Given the description of an element on the screen output the (x, y) to click on. 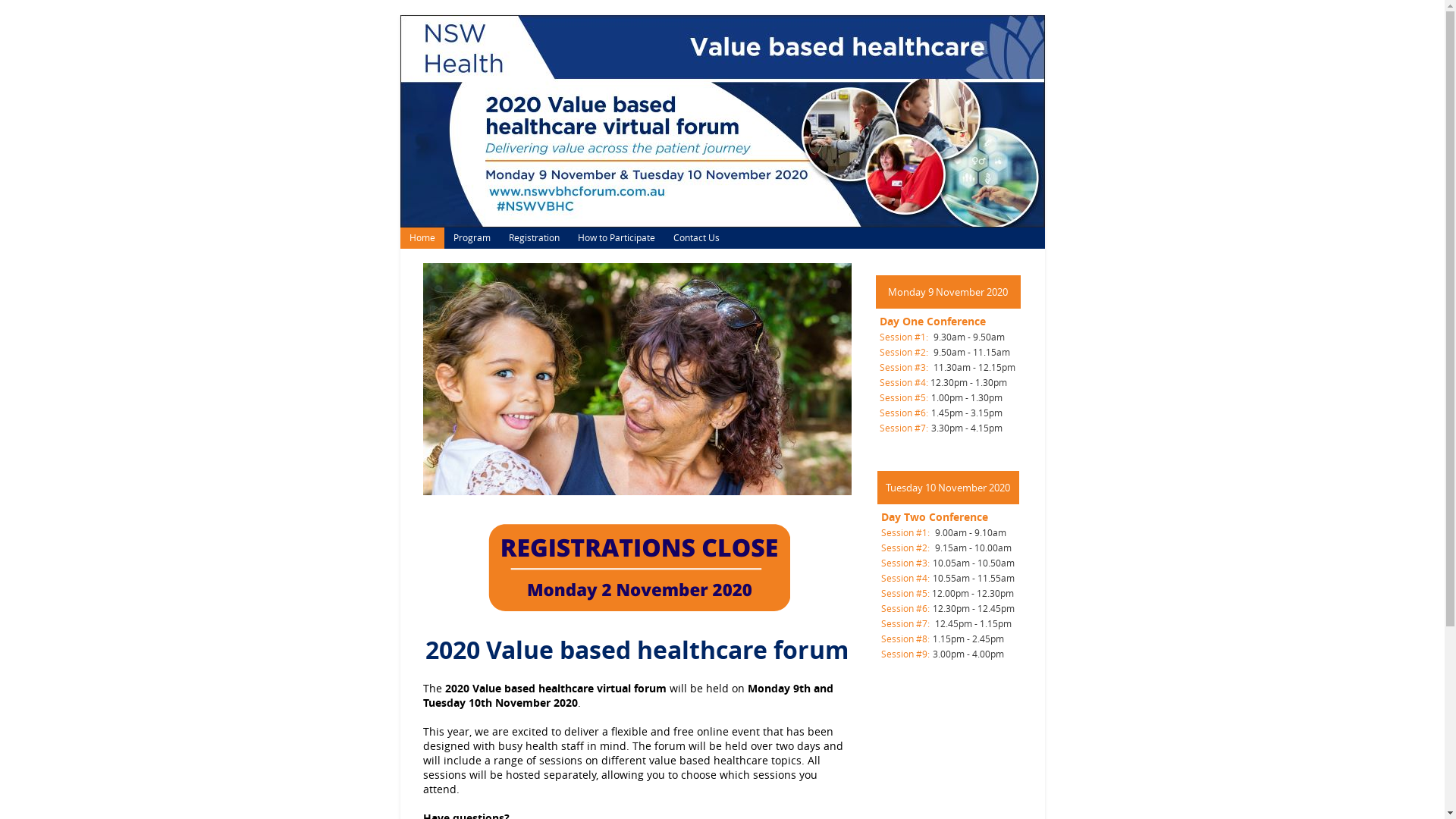
Home Element type: text (422, 237)
How to Participate Element type: text (616, 237)
Registration Element type: text (532, 237)
Contact Us Element type: text (696, 237)
Program Element type: text (471, 237)
